Given the description of an element on the screen output the (x, y) to click on. 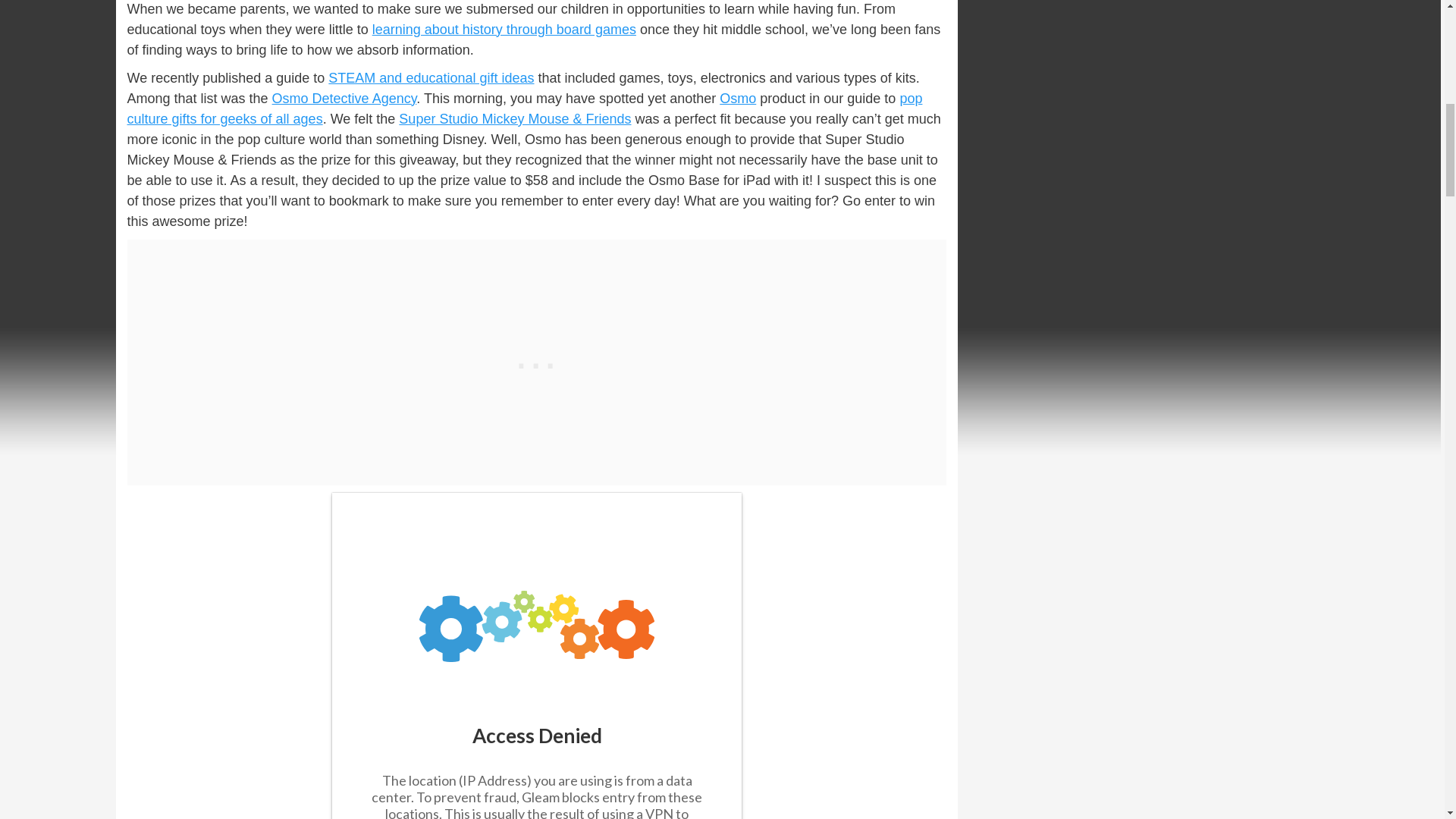
Competition (536, 656)
